Given the description of an element on the screen output the (x, y) to click on. 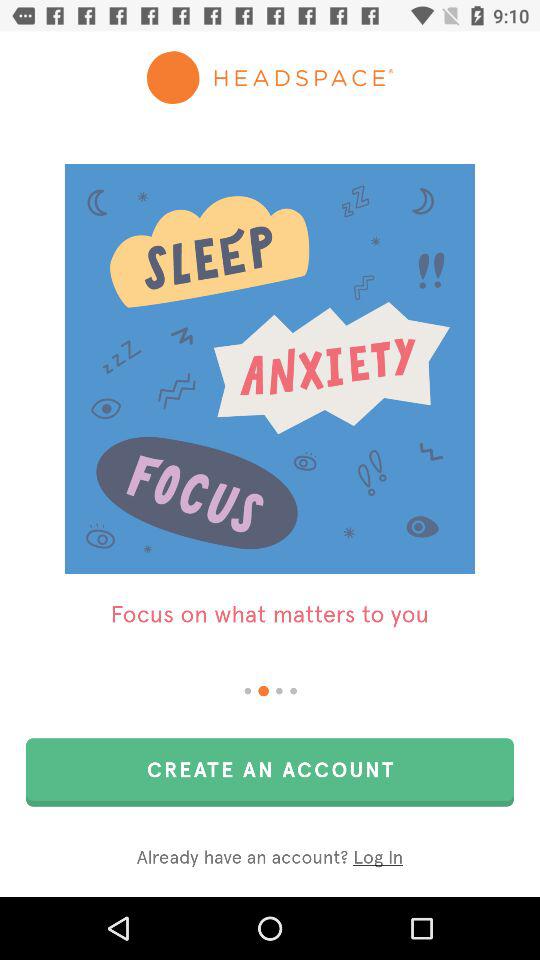
turn off the already have an (269, 857)
